Given the description of an element on the screen output the (x, y) to click on. 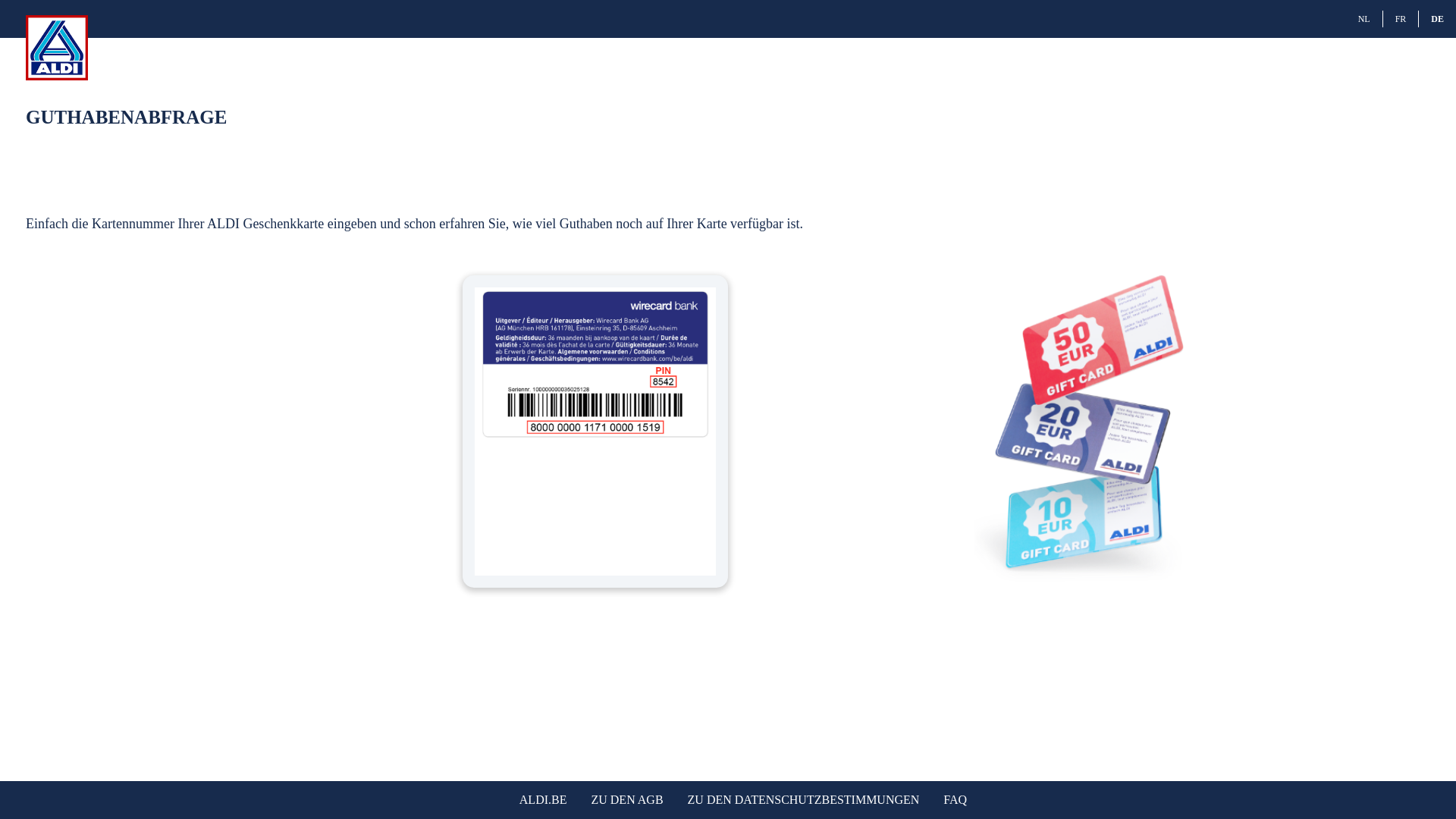
FR Element type: text (1400, 18)
NL Element type: text (1364, 18)
